Given the description of an element on the screen output the (x, y) to click on. 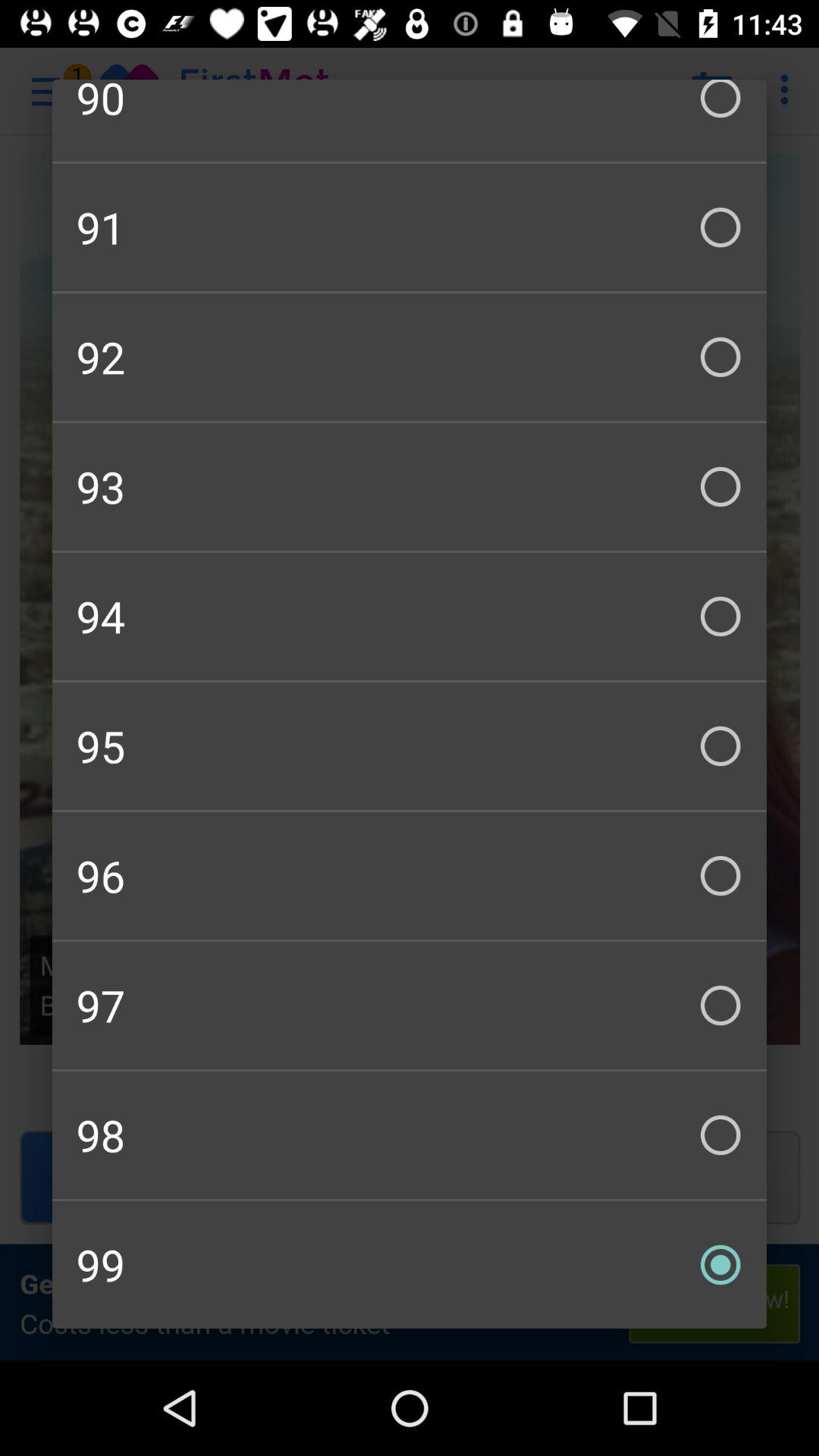
tap the checkbox below the 94 checkbox (409, 745)
